Given the description of an element on the screen output the (x, y) to click on. 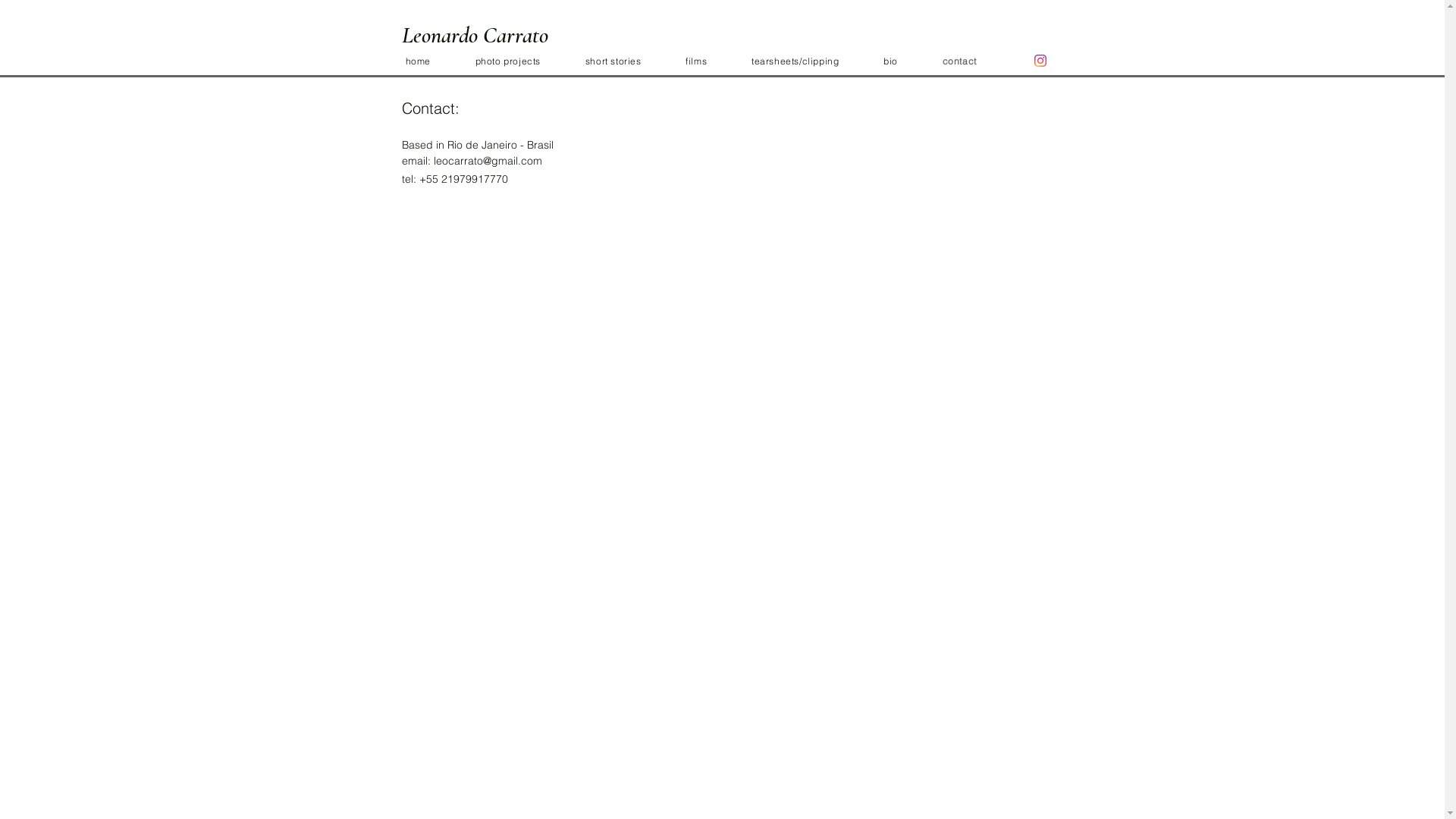
films Element type: text (715, 61)
Leonardo Carrato Element type: text (474, 35)
contact Element type: text (979, 61)
tearsheets/clipping Element type: text (814, 61)
leocarrato@gmail.com Element type: text (487, 160)
bio Element type: text (910, 61)
home Element type: text (437, 61)
